Given the description of an element on the screen output the (x, y) to click on. 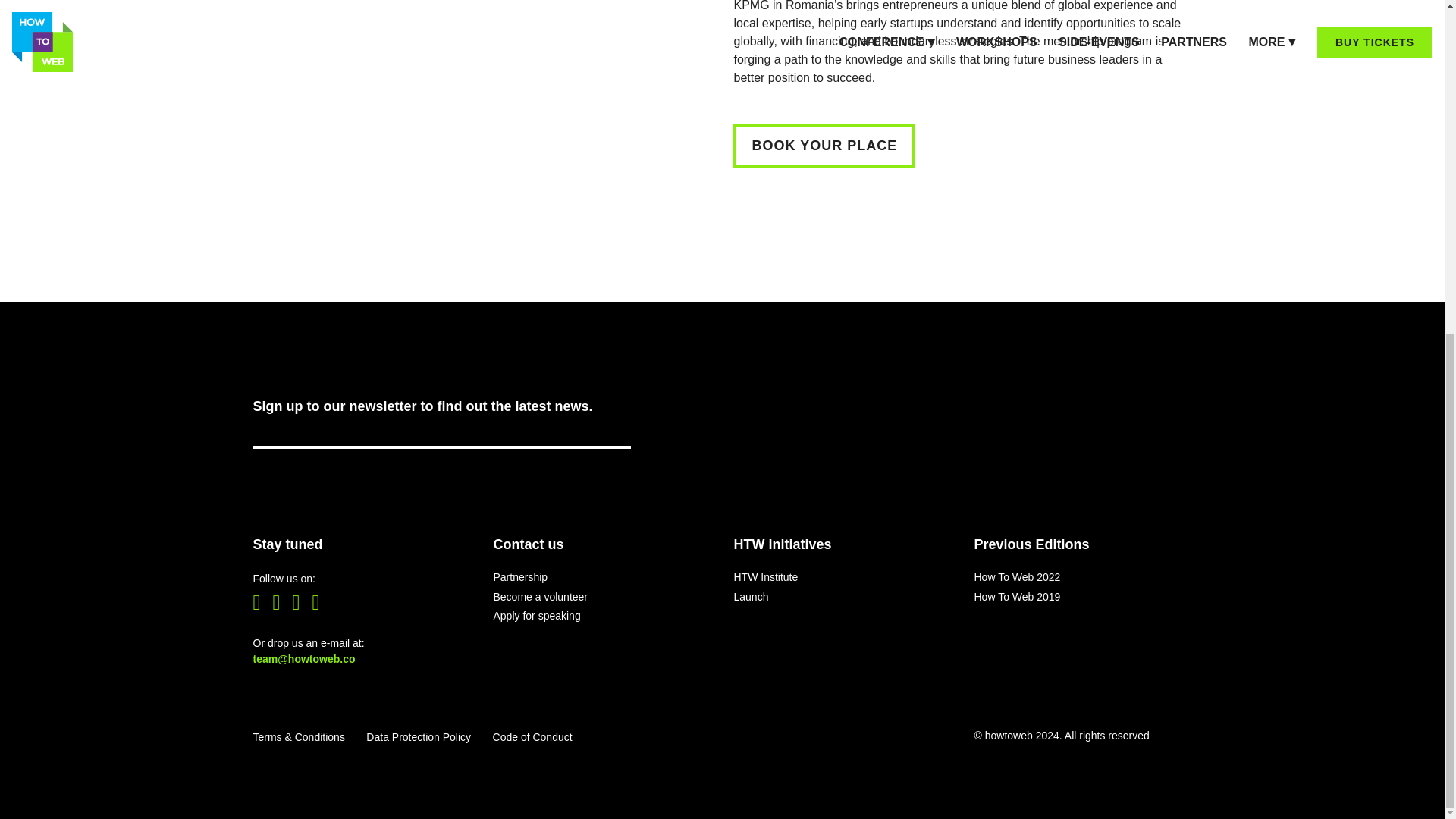
Launch (750, 596)
BOOK YOUR PLACE (824, 145)
Apply for speaking (536, 615)
HTW Institute (765, 576)
Become a volunteer (540, 596)
Partnership (520, 576)
